Given the description of an element on the screen output the (x, y) to click on. 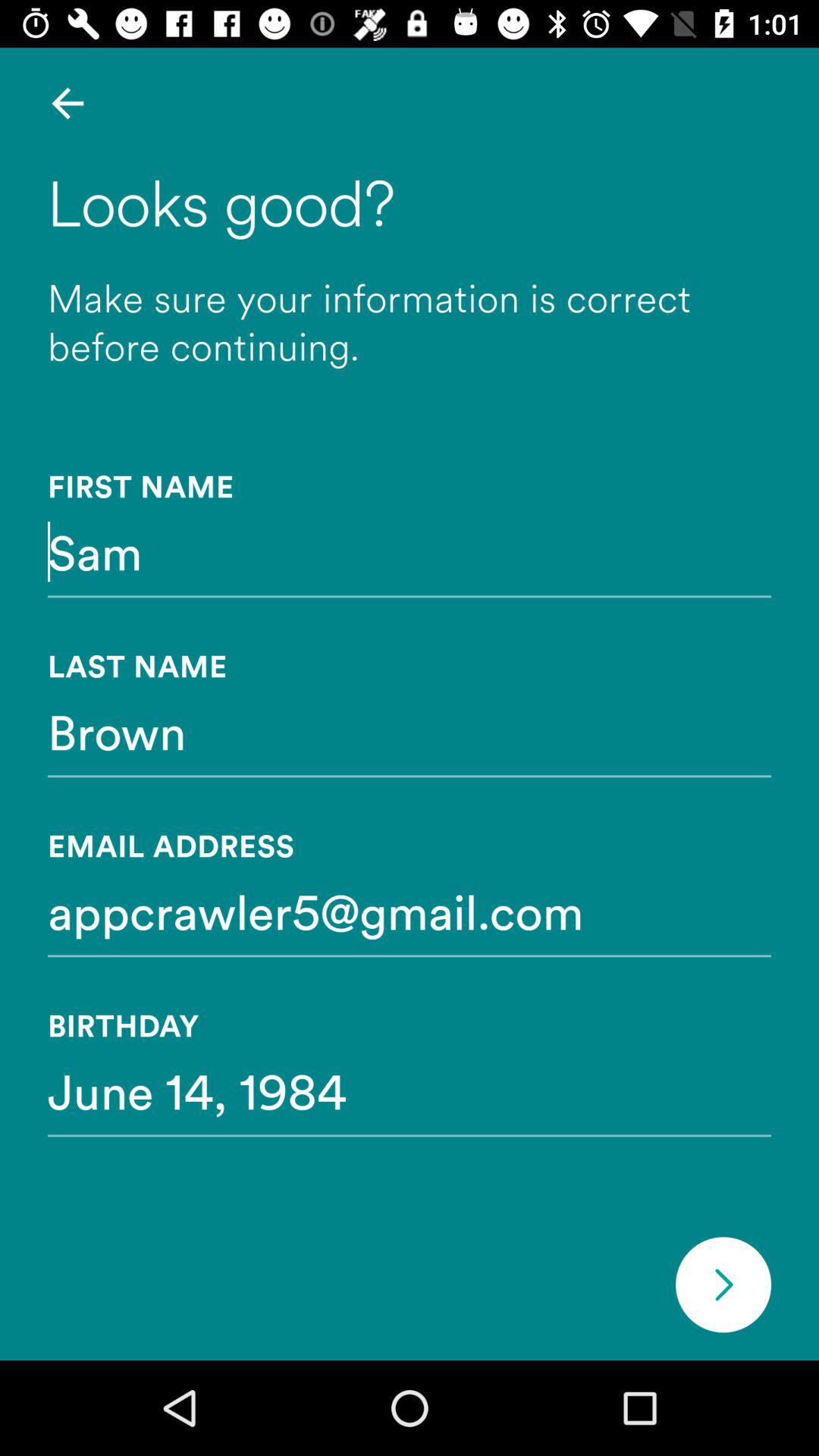
flip until appcrawler5@gmail.com item (409, 911)
